Given the description of an element on the screen output the (x, y) to click on. 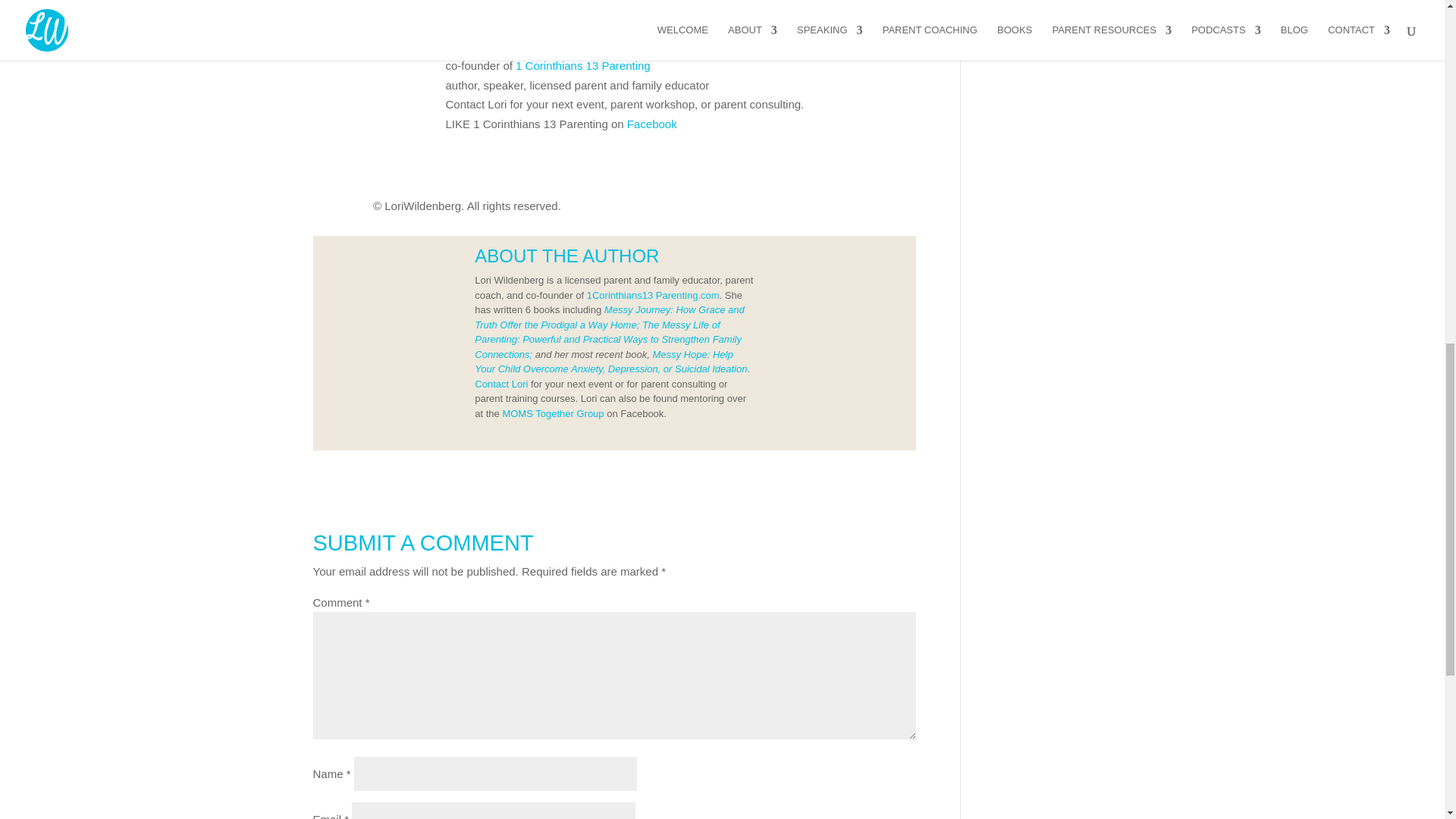
 1 Corinthians 13 Parenting  (582, 65)
Contact Lori (500, 383)
Facebook (652, 123)
1Corinthians13 Parenting.com (652, 295)
MOMS Together Group (553, 413)
Lori Wildenberg (485, 45)
